Given the description of an element on the screen output the (x, y) to click on. 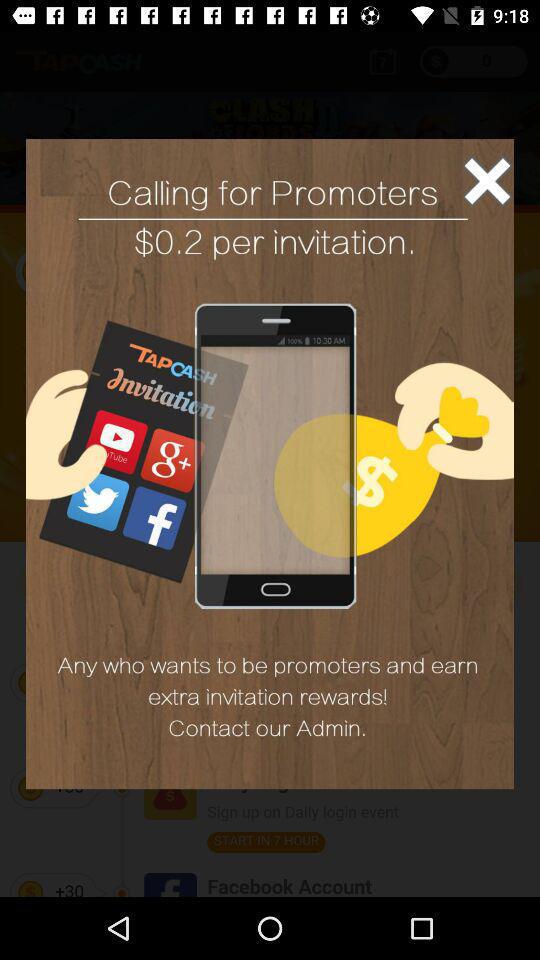
close page (487, 180)
